Given the description of an element on the screen output the (x, y) to click on. 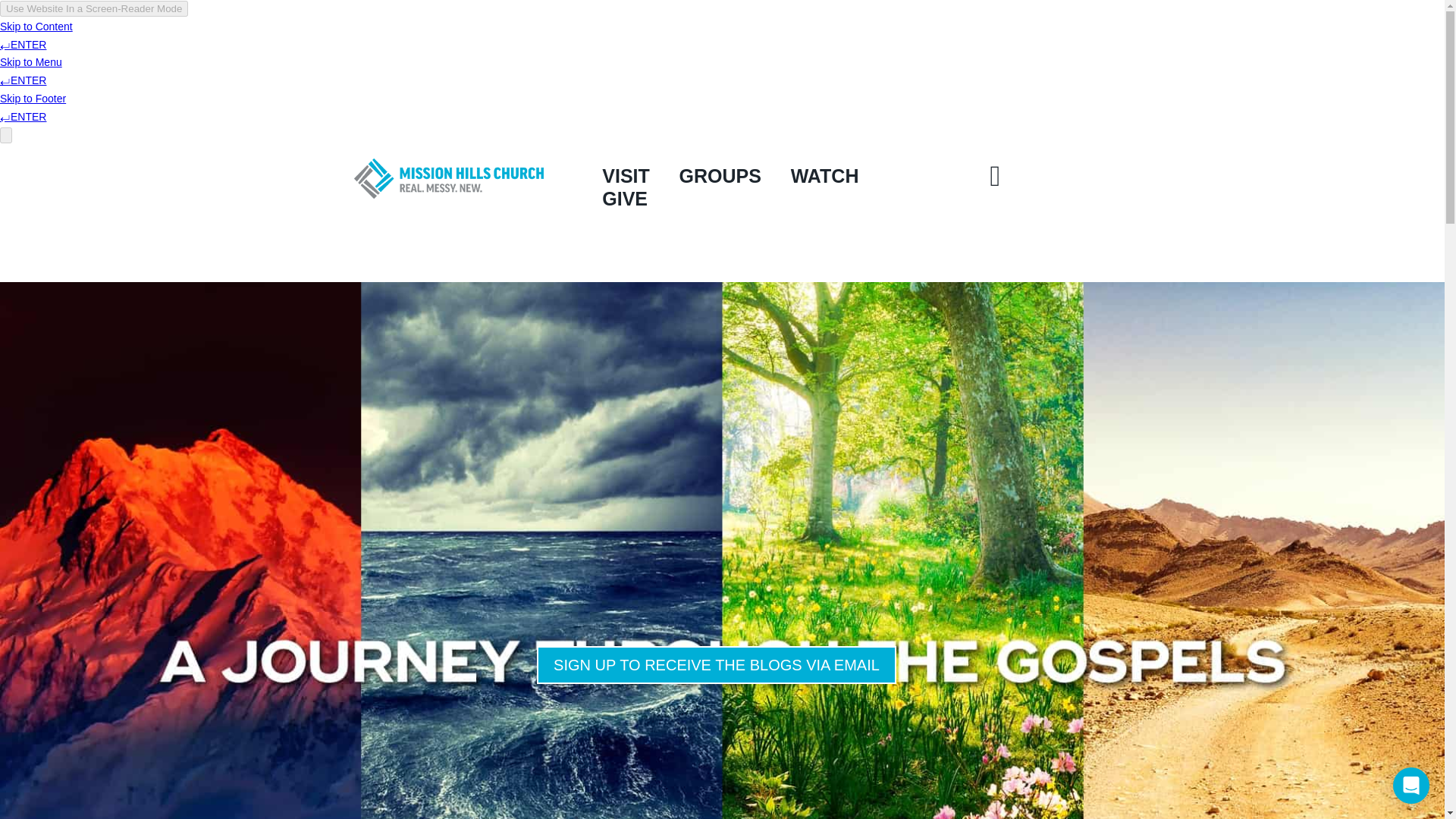
Mission Hills Logo - 90h (448, 178)
